Given the description of an element on the screen output the (x, y) to click on. 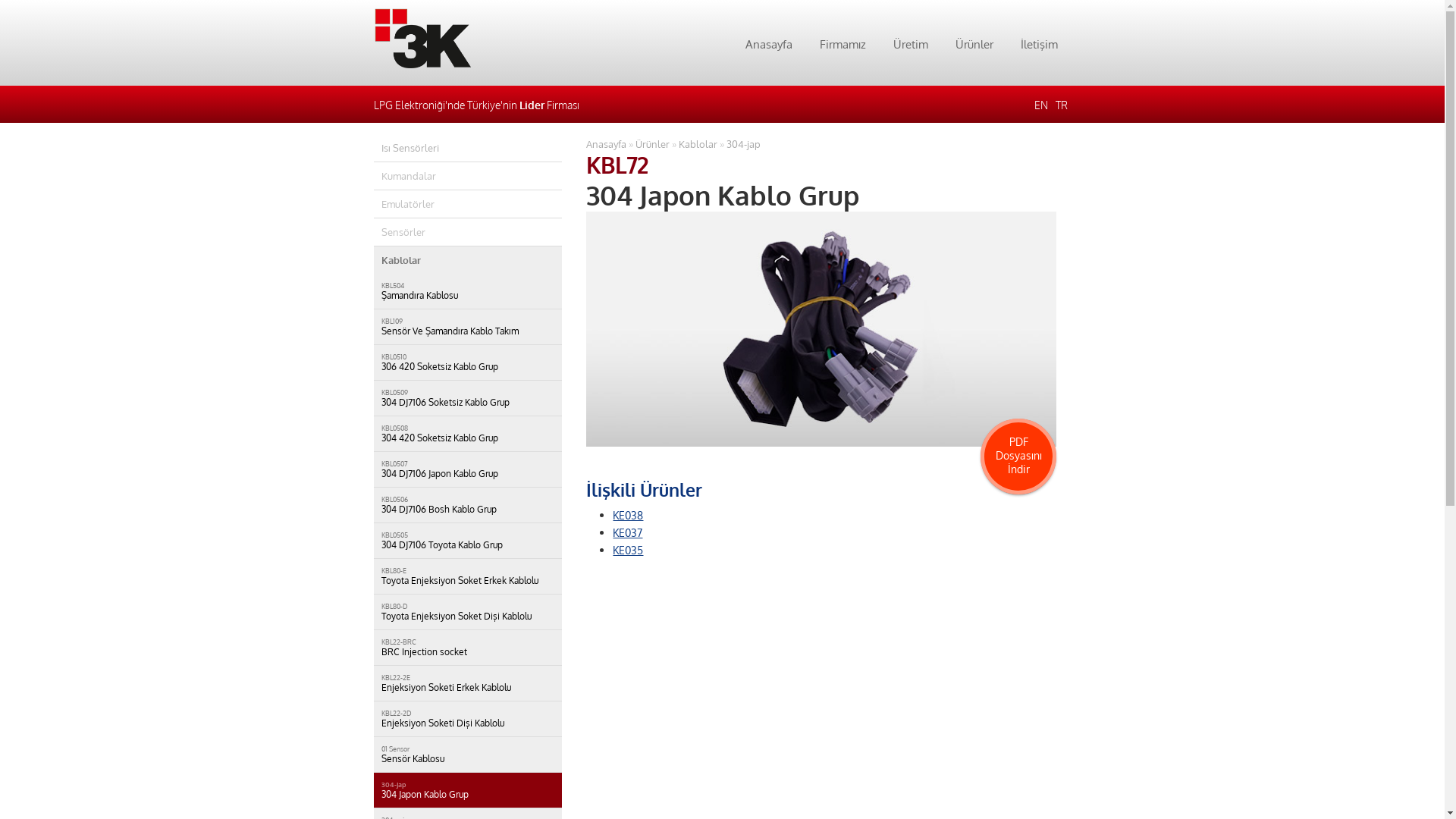
KBL0510
306 420 Soketsiz Kablo Grup Element type: text (467, 362)
KBL22-BRC
BRC Injection socket Element type: text (467, 647)
KBL0509
304 DJ7106 Soketsiz Kablo Grup Element type: text (467, 397)
KBL0508
304 420 Soketsiz Kablo Grup Element type: text (467, 433)
TR Element type: text (1061, 104)
EN Element type: text (1041, 104)
3K Elektronik Element type: hover (421, 37)
KE037 Element type: text (627, 532)
KBL0507
304 DJ7106 Japon Kablo Grup Element type: text (467, 468)
Anasayfa Element type: text (607, 144)
304-jap
304 Japon Kablo Grup Element type: text (467, 789)
KBL0506
304 DJ7106 Bosh Kablo Grup Element type: text (467, 504)
Kablolar Element type: text (697, 144)
Kumandalar Element type: text (467, 175)
KE035 Element type: text (627, 549)
304-jap Element type: text (743, 144)
Anasayfa Element type: text (768, 43)
KE038 Element type: text (627, 514)
KBL80-E
Toyota Enjeksiyon Soket Erkek Kablolu Element type: text (467, 575)
KBL22-2E
Enjeksiyon Soketi Erkek Kablolu Element type: text (467, 682)
Kablolar Element type: text (467, 259)
KBL0505
304 DJ7106 Toyota Kablo Grup Element type: text (467, 540)
